Given the description of an element on the screen output the (x, y) to click on. 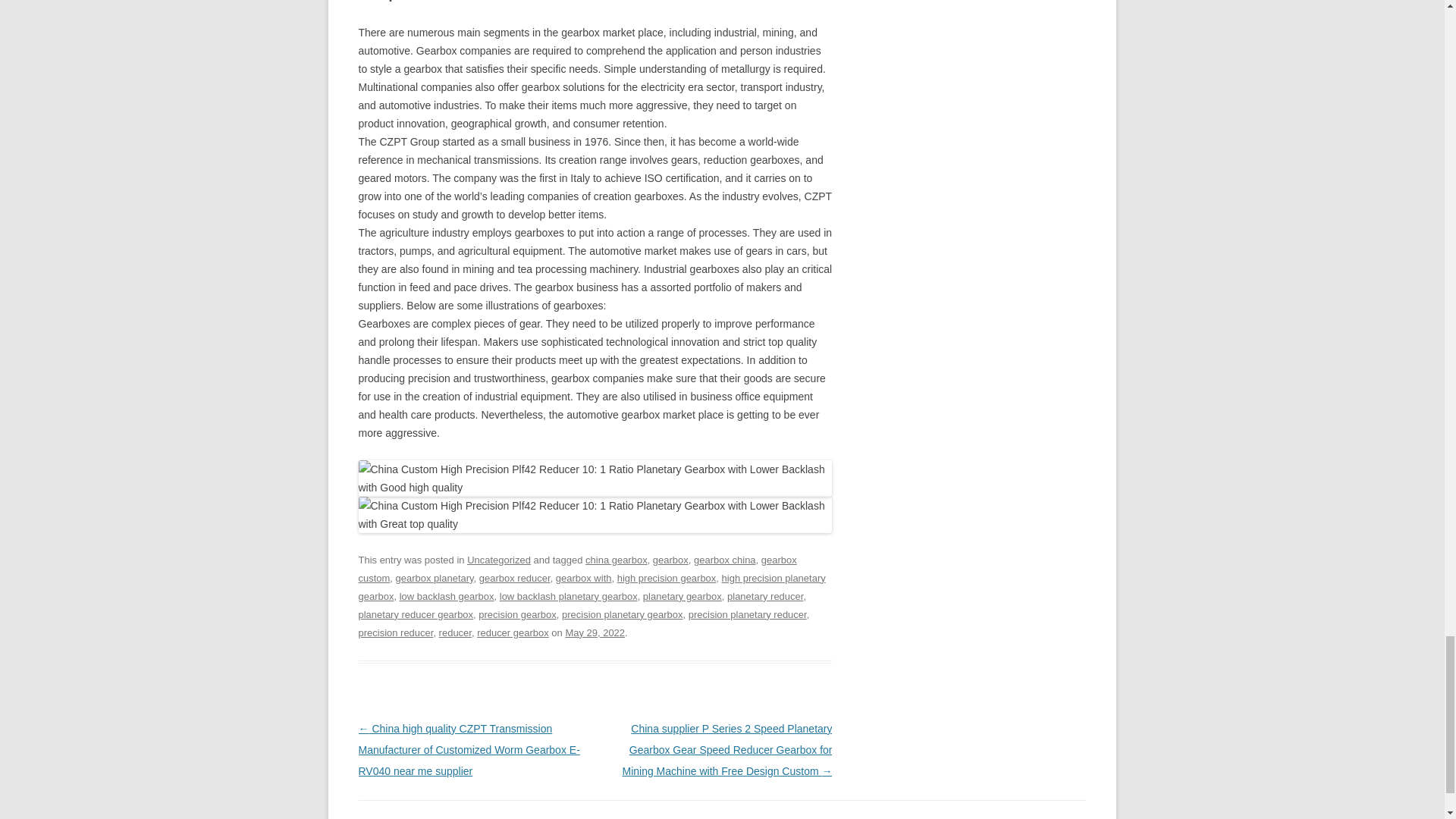
high precision planetary gearbox (591, 586)
low backlash planetary gearbox (568, 595)
4:39 am (594, 632)
May 29, 2022 (594, 632)
gearbox china (724, 559)
precision planetary reducer (747, 614)
gearbox (670, 559)
china gearbox (616, 559)
gearbox planetary (435, 577)
high precision gearbox (666, 577)
